Given the description of an element on the screen output the (x, y) to click on. 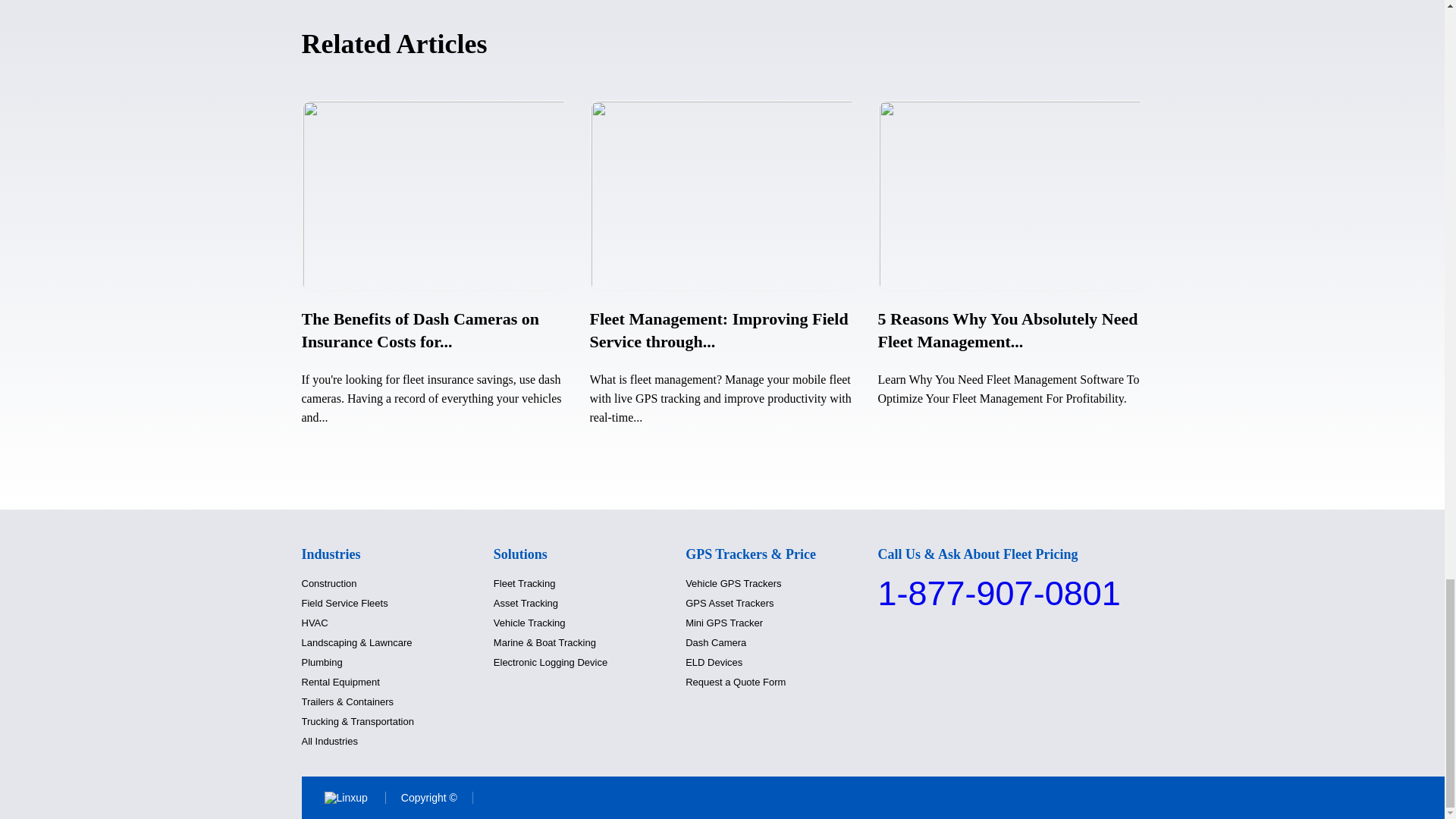
Electronic Logging Device (550, 662)
Dash Camera (715, 642)
ELD Devices (713, 662)
Construction (328, 583)
Mini GPS Tracker (723, 622)
Vehicle GPS Trackers (732, 583)
Vehicle Tracking (529, 622)
Plumbing (321, 662)
The Benefits of Dash Cameras on Insurance Costs for... (420, 330)
Field Service Fleets (344, 603)
